Given the description of an element on the screen output the (x, y) to click on. 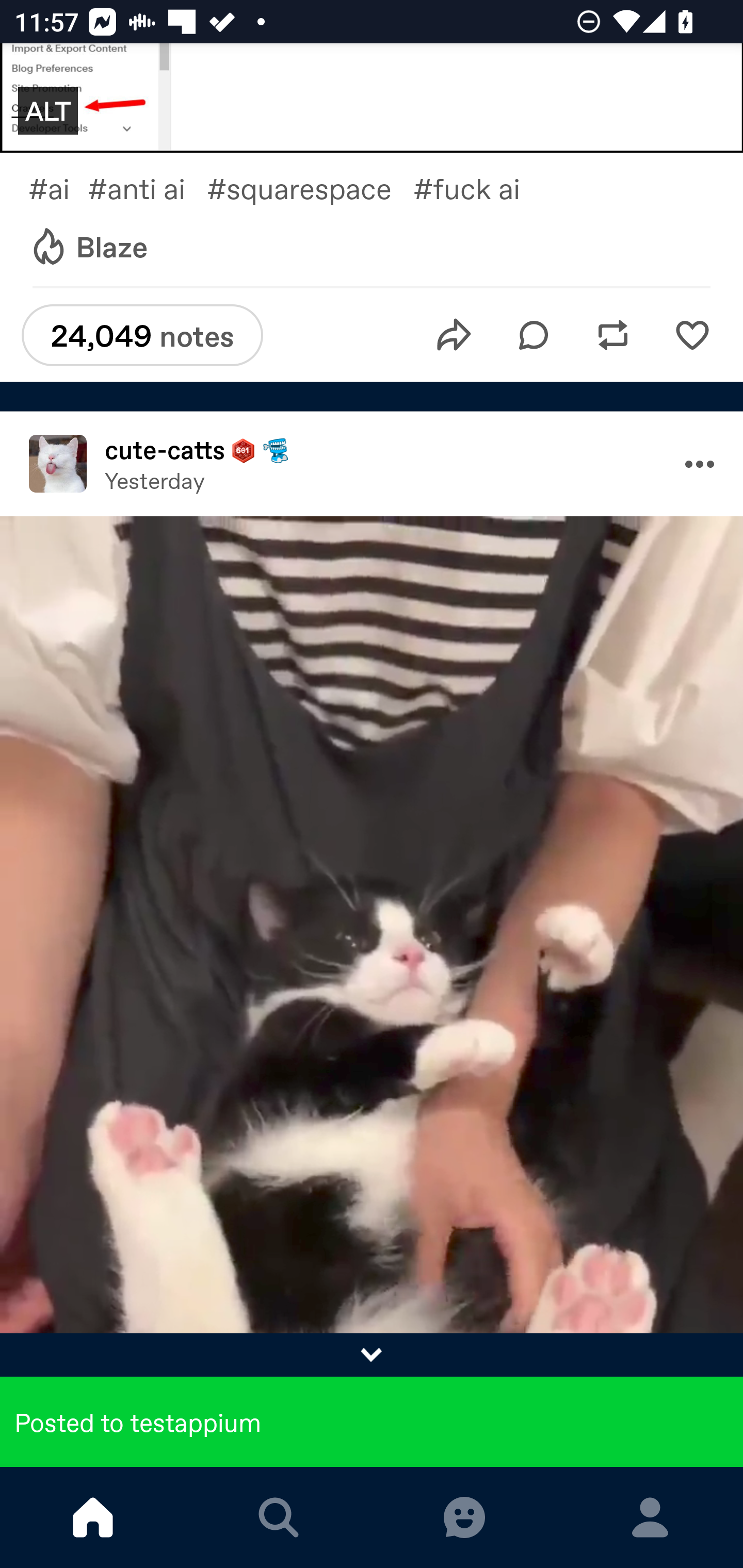
ALT (47, 110)
#ai (57, 187)
#anti ai (146, 187)
#squarespace (309, 187)
#fuck ai (481, 187)
Blaze Blaze Blaze (88, 247)
Share post to message (454, 335)
Reply (533, 335)
Reblog (612, 335)
Like (691, 335)
24,049 notes (142, 335)
Posted to testappium (371, 1399)
Posted to testappium (371, 1421)
DASHBOARD (92, 1517)
EXPLORE (278, 1517)
MESSAGES (464, 1517)
ACCOUNT (650, 1517)
